Given the description of an element on the screen output the (x, y) to click on. 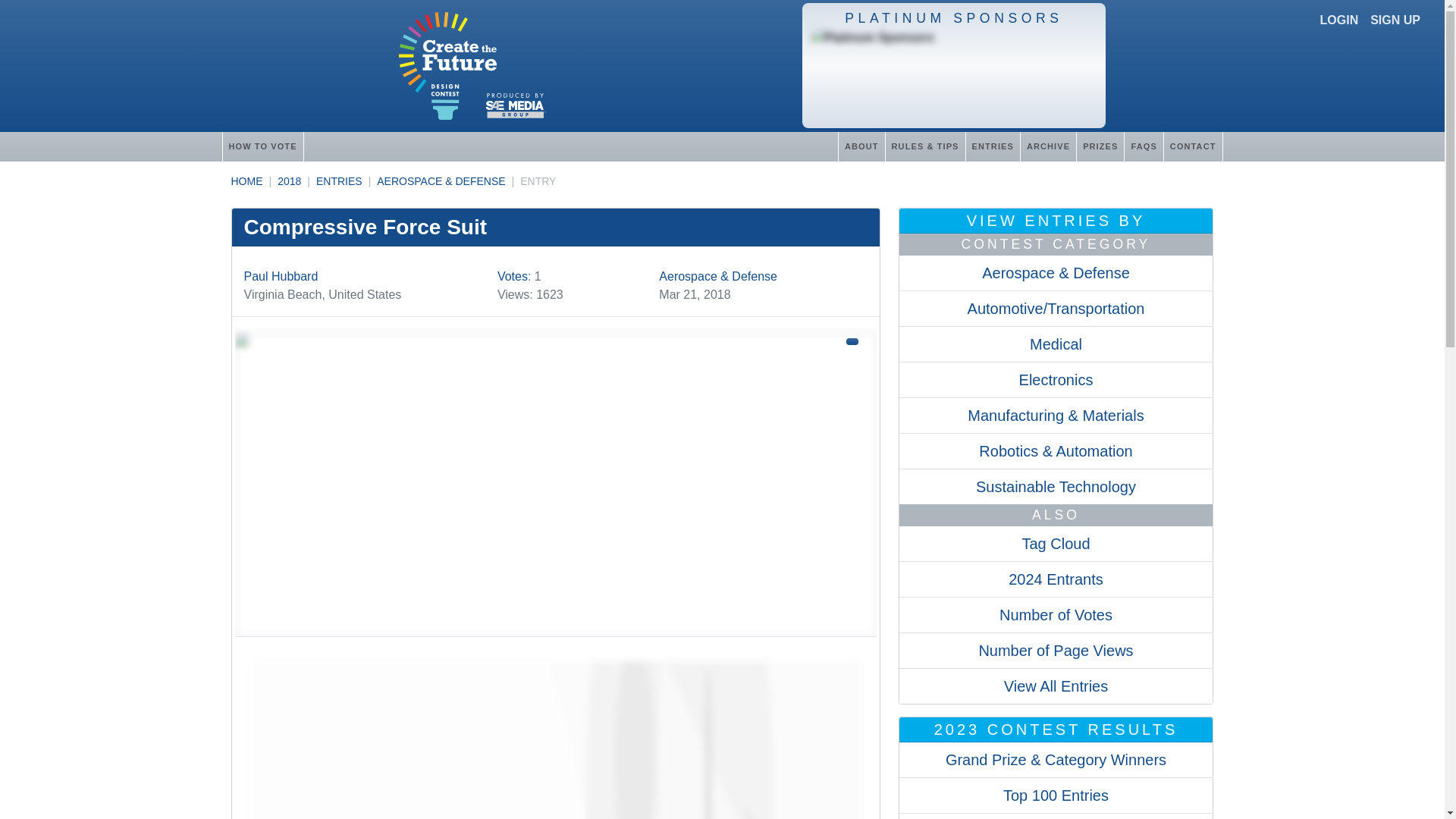
LOGIN (1339, 20)
PRIZES (1099, 146)
HOW TO VOTE (261, 146)
2018 (289, 181)
Goto slide (555, 730)
FAQS (1142, 146)
ABOUT (861, 146)
ENTRIES (338, 181)
Votes (512, 276)
SIGN UP (1395, 20)
Paul Hubbard (281, 276)
CONTACT (1193, 146)
HOME (246, 181)
ARCHIVE (1047, 146)
ENTRIES (992, 146)
